Given the description of an element on the screen output the (x, y) to click on. 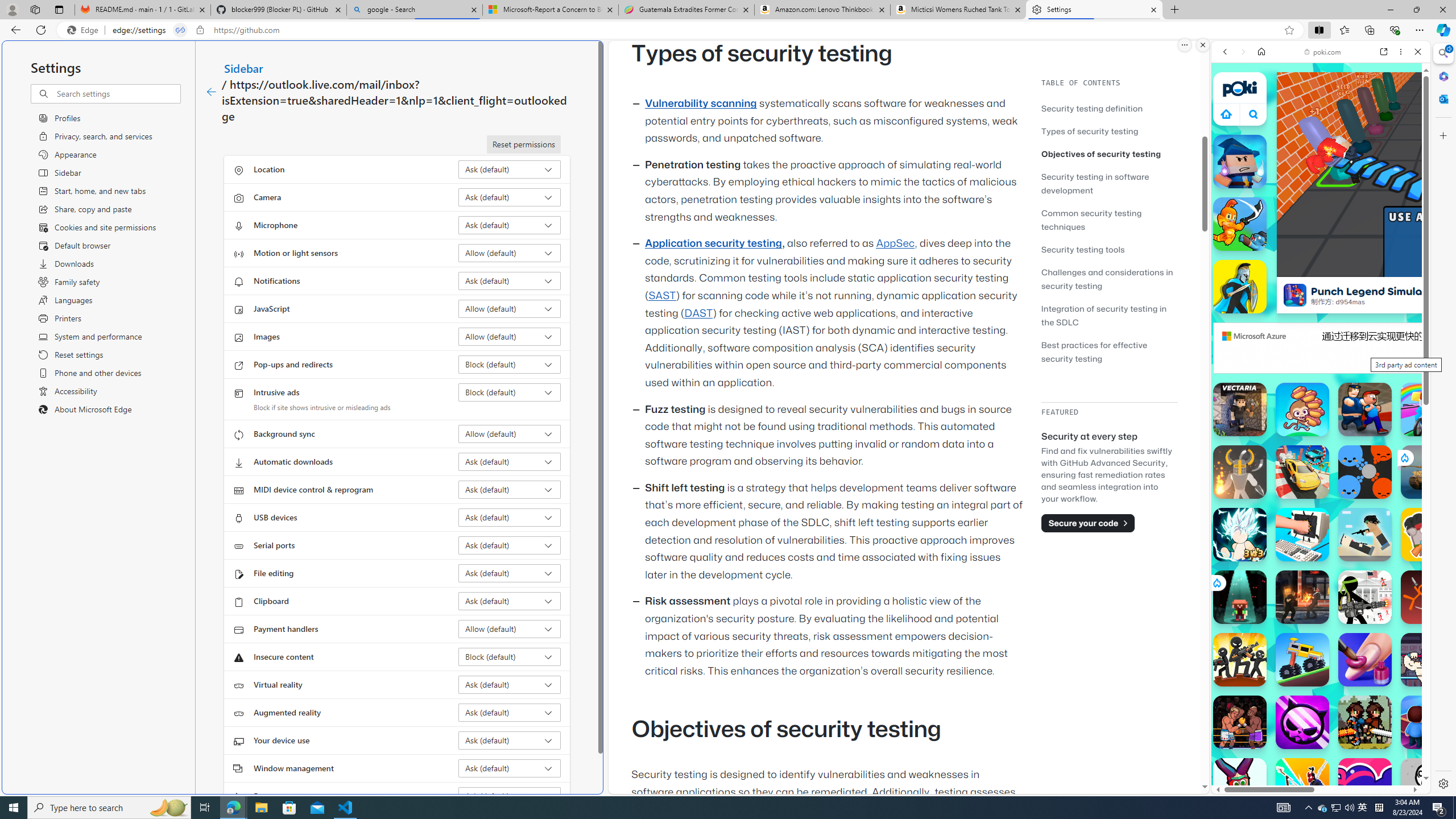
Best practices for effective security testing (1109, 351)
Insecure content Block (default) (509, 656)
Funny Shooter 2 Funny Shooter 2 (1239, 784)
Funny Shooter 2 (1239, 784)
SUBWAY SURFERS - Play Online for Free! | Poki (1315, 765)
Virtual reality Ask (default) (509, 684)
Crazy Cars (1419, 574)
Poki (1315, 754)
Games for Girls (1320, 407)
Class: B_5ykBA46kDOxiz_R9wm (1253, 113)
Shooting Games (1320, 295)
